Given the description of an element on the screen output the (x, y) to click on. 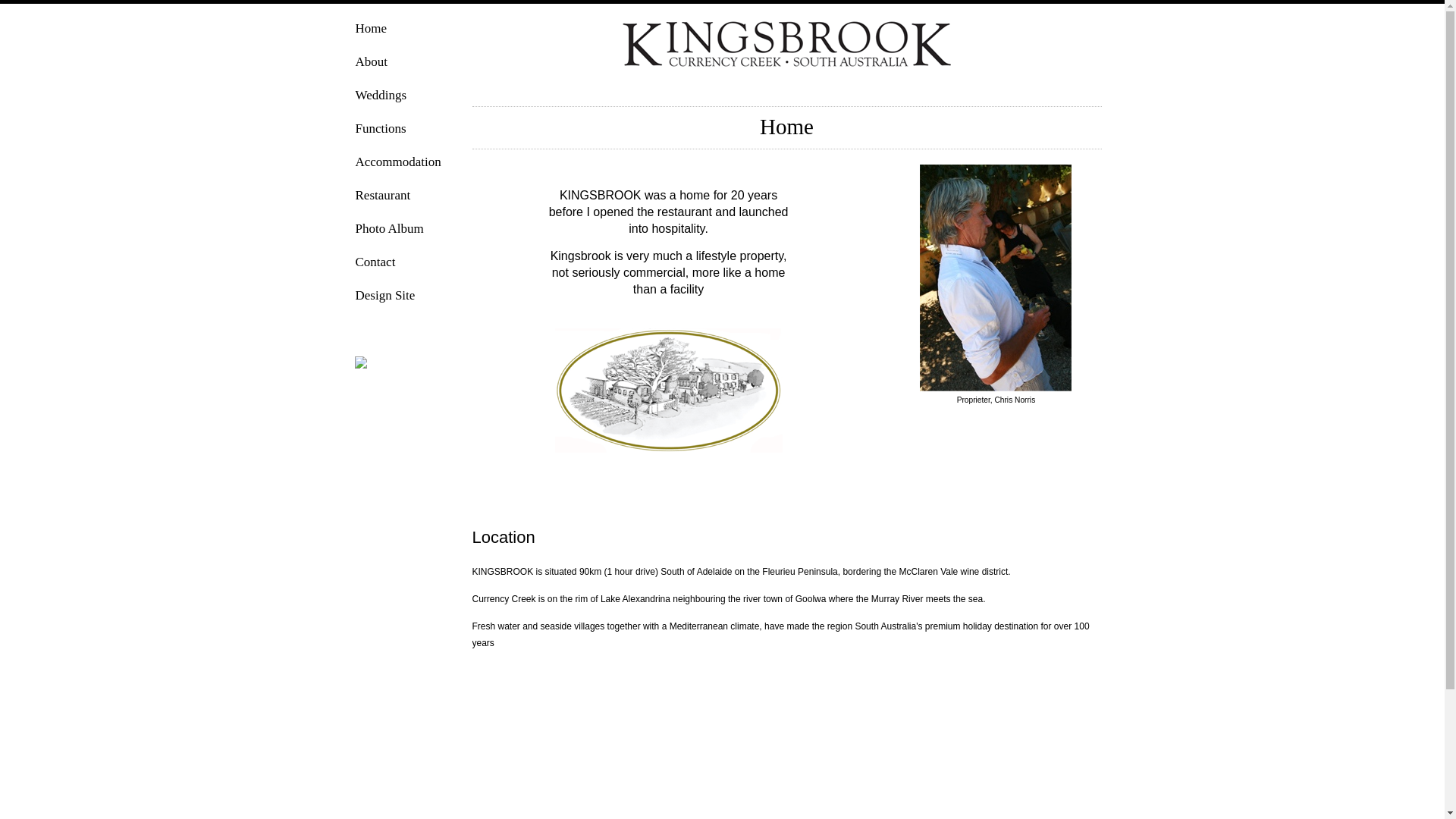
Design Site Element type: text (403, 298)
Home Element type: text (403, 31)
Contact Element type: text (403, 265)
Restaurant Element type: text (403, 198)
Accommodation Element type: text (403, 164)
Weddings Element type: text (403, 98)
Functions Element type: text (403, 131)
About Element type: text (403, 64)
Photo Album Element type: text (403, 231)
